Given the description of an element on the screen output the (x, y) to click on. 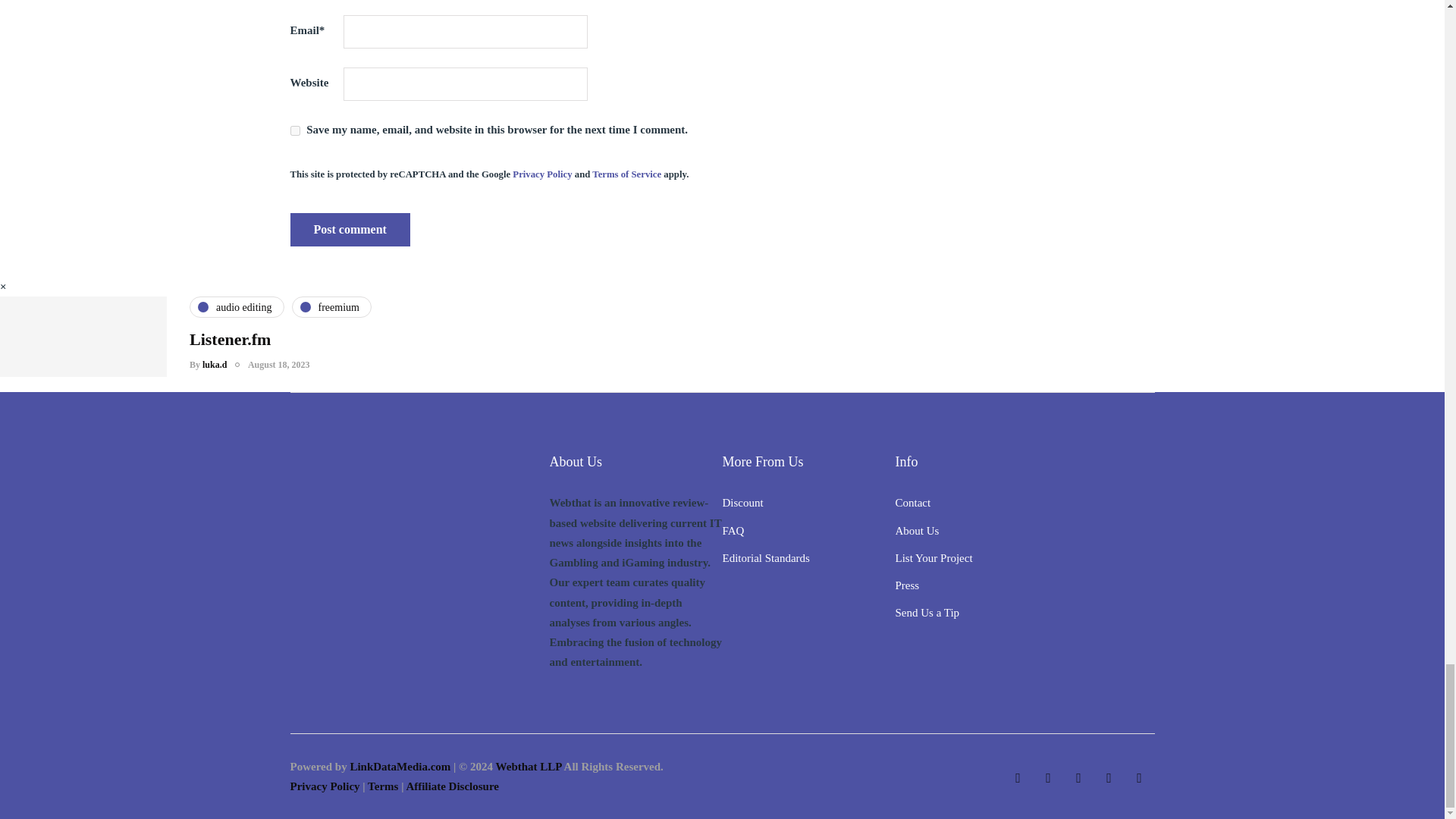
Post comment (349, 229)
yes (294, 130)
